Given the description of an element on the screen output the (x, y) to click on. 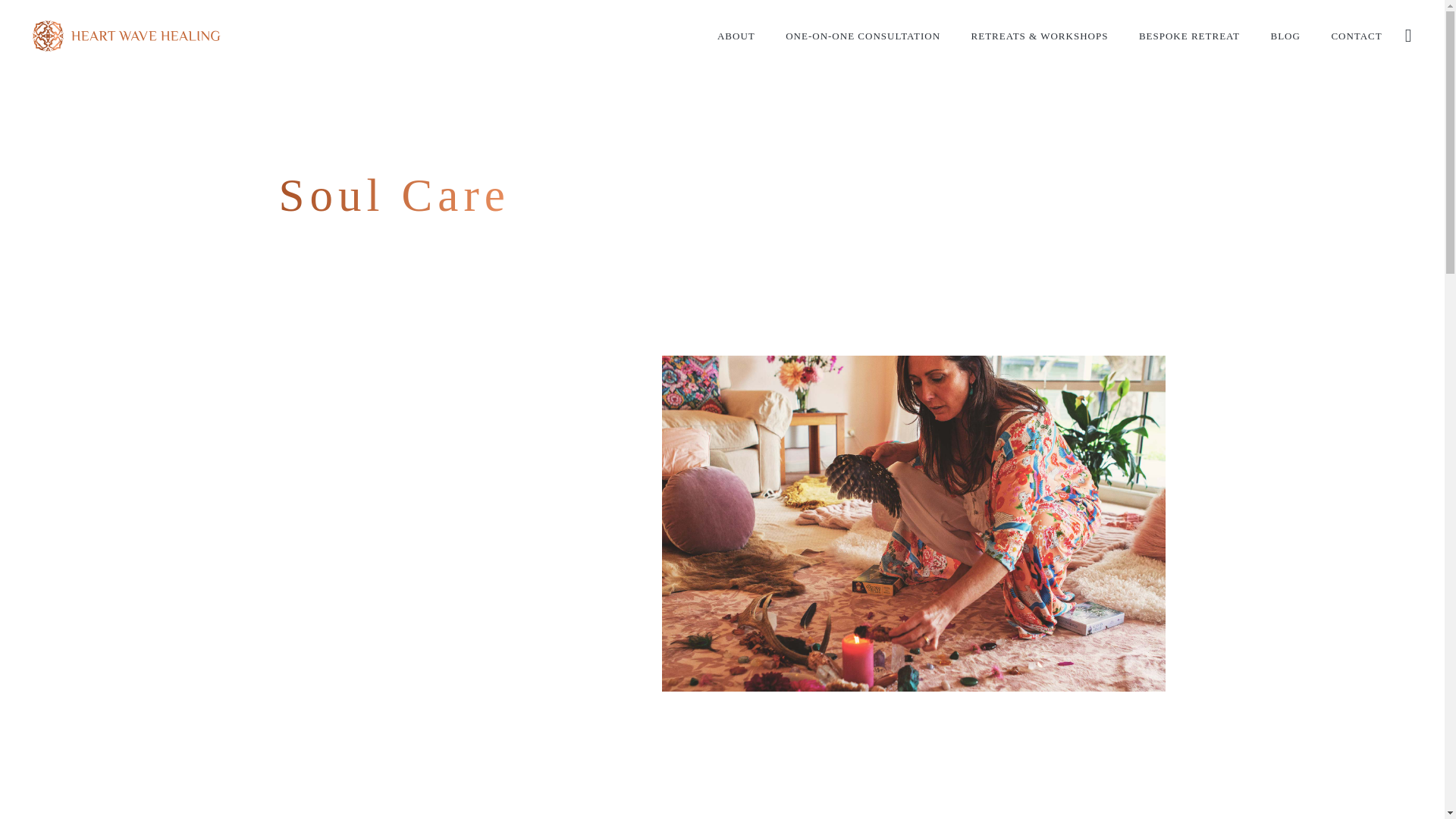
CONTACT (1356, 36)
ONE-ON-ONE CONSULTATION (862, 36)
BESPOKE RETREAT (1189, 36)
ABOUT (735, 36)
